Given the description of an element on the screen output the (x, y) to click on. 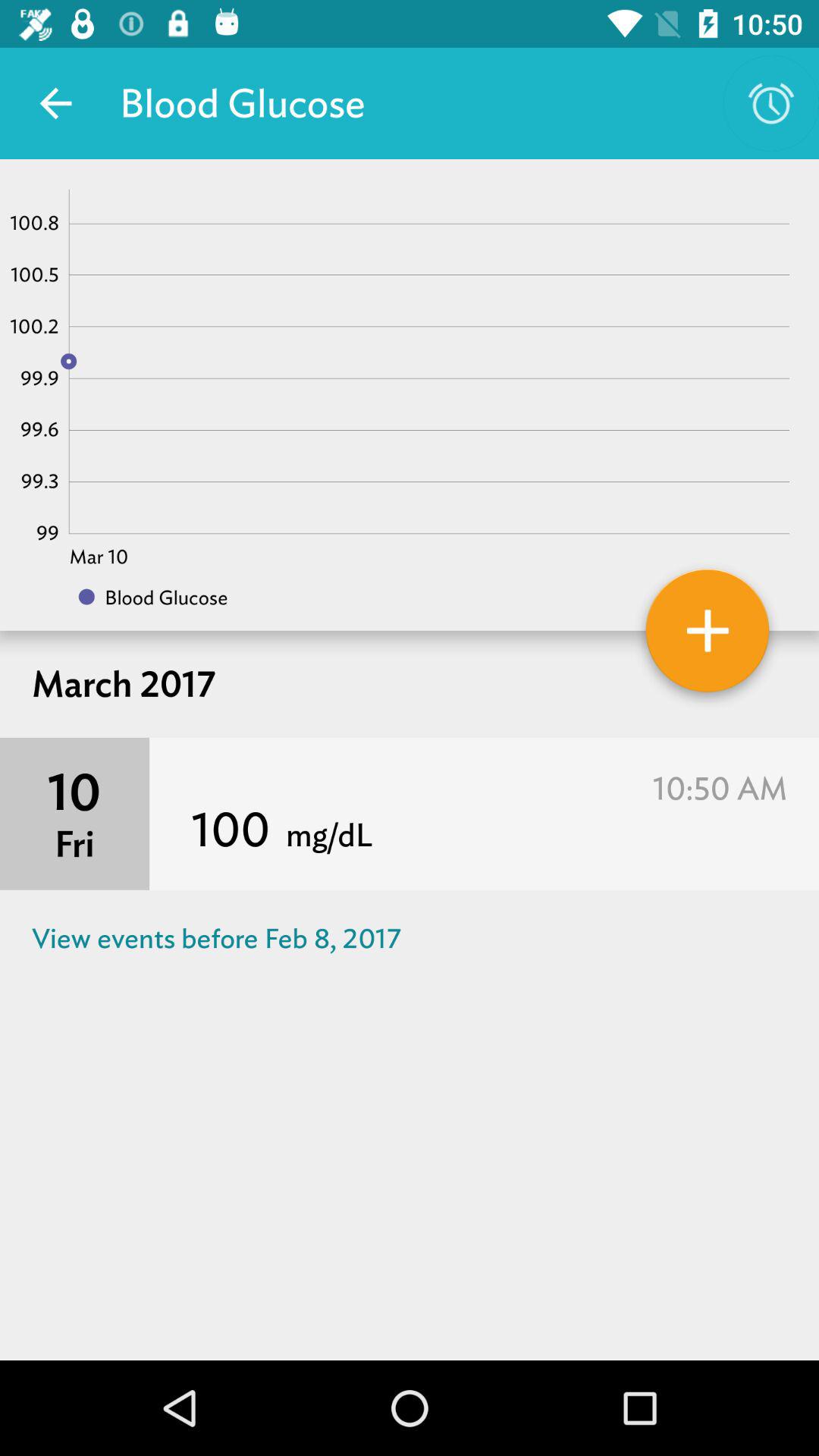
launch view events before item (409, 938)
